Given the description of an element on the screen output the (x, y) to click on. 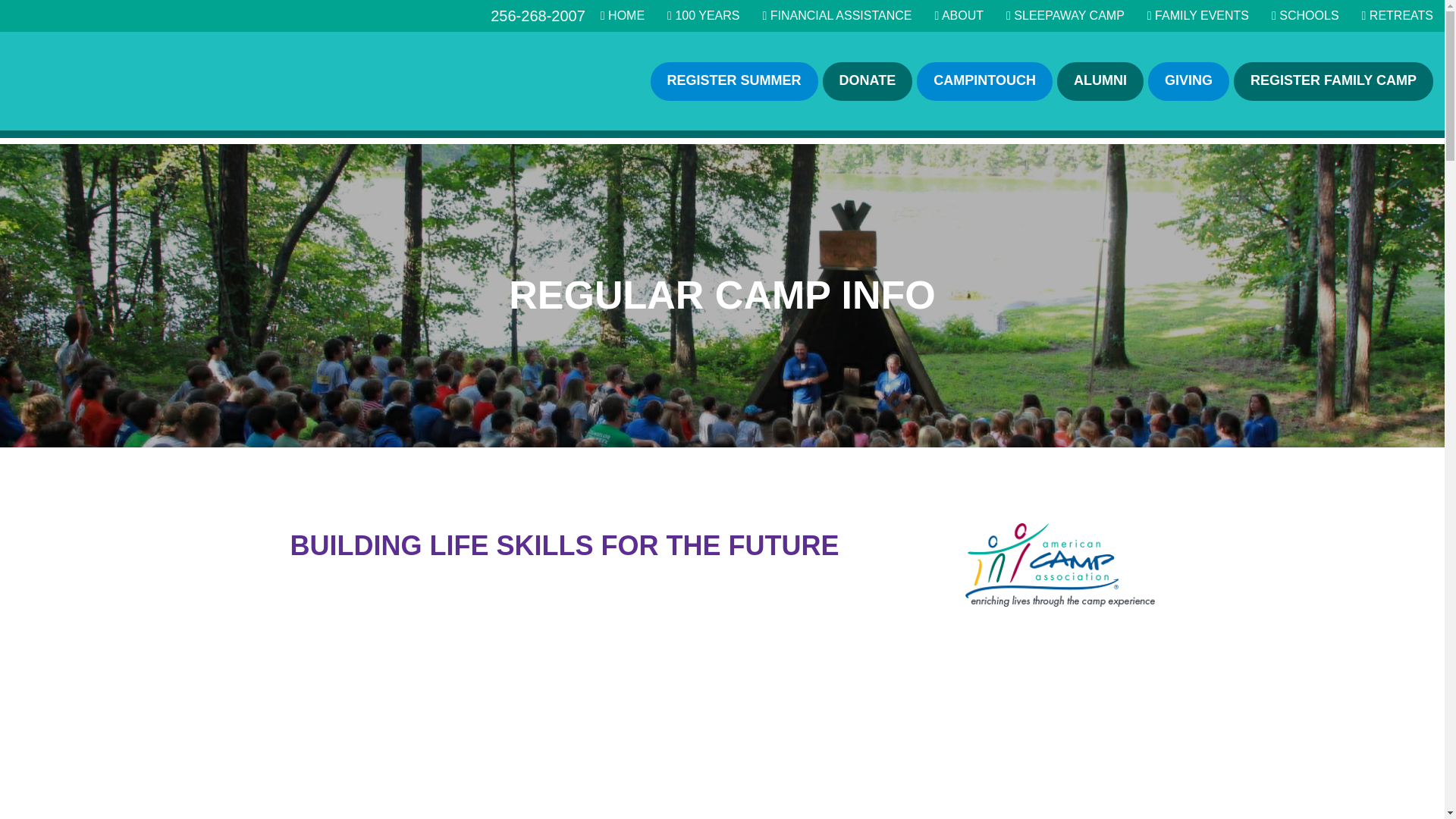
SLEEPAWAY CAMP (1065, 15)
256-268-2007 (544, 15)
FAMILY EVENTS (1198, 15)
ABOUT (959, 15)
HOME (622, 15)
FINANCIAL ASSISTANCE (836, 15)
SCHOOLS (1305, 15)
100 YEARS (702, 15)
RETREATS (1396, 15)
